Given the description of an element on the screen output the (x, y) to click on. 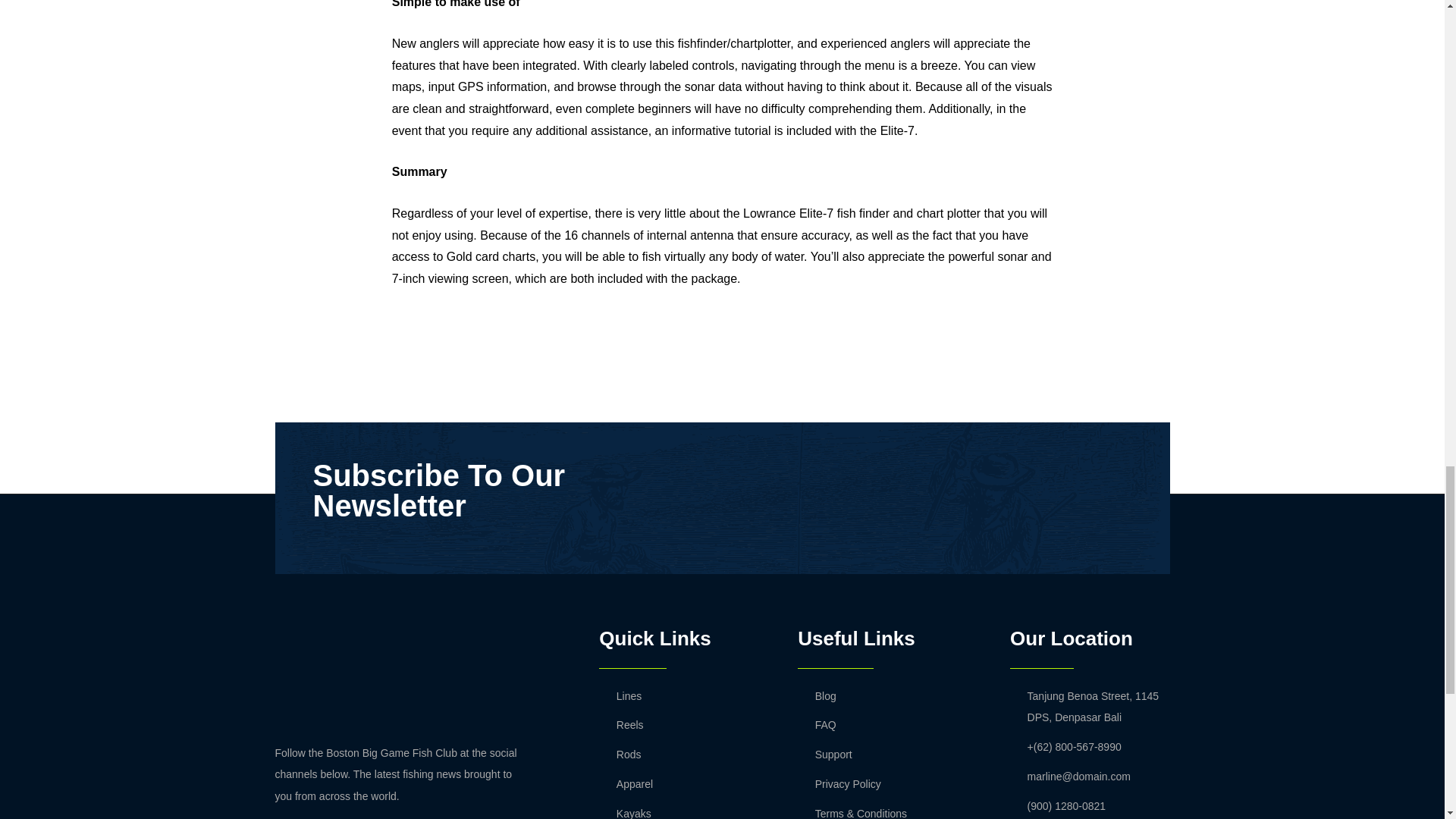
FAQ (892, 725)
Lines (682, 696)
Support (892, 754)
Reels (682, 725)
Rods (682, 754)
Privacy Policy (892, 784)
Kayaks (682, 811)
Blog (892, 696)
Apparel (682, 784)
